Given the description of an element on the screen output the (x, y) to click on. 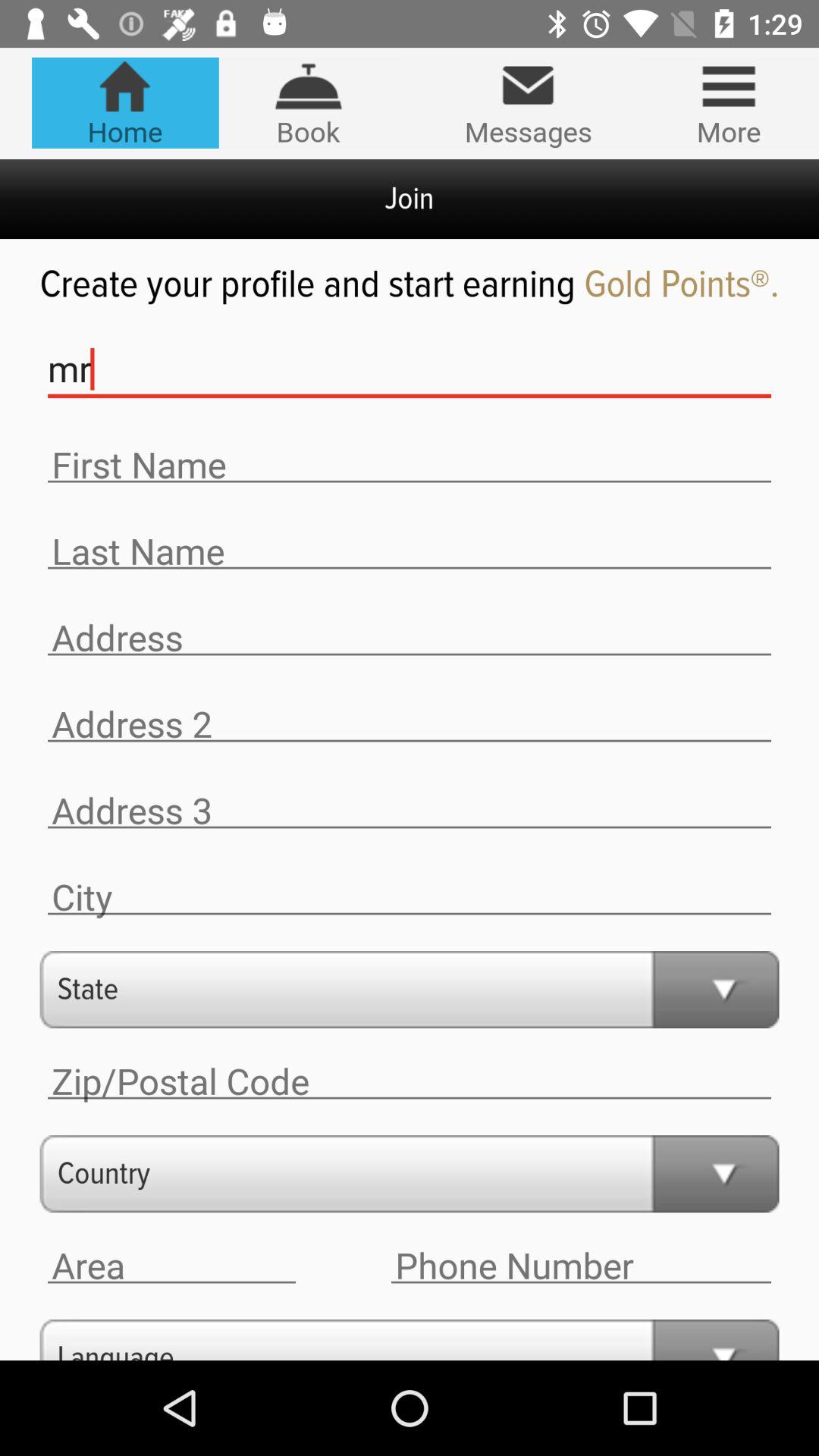
city input box (409, 897)
